Given the description of an element on the screen output the (x, y) to click on. 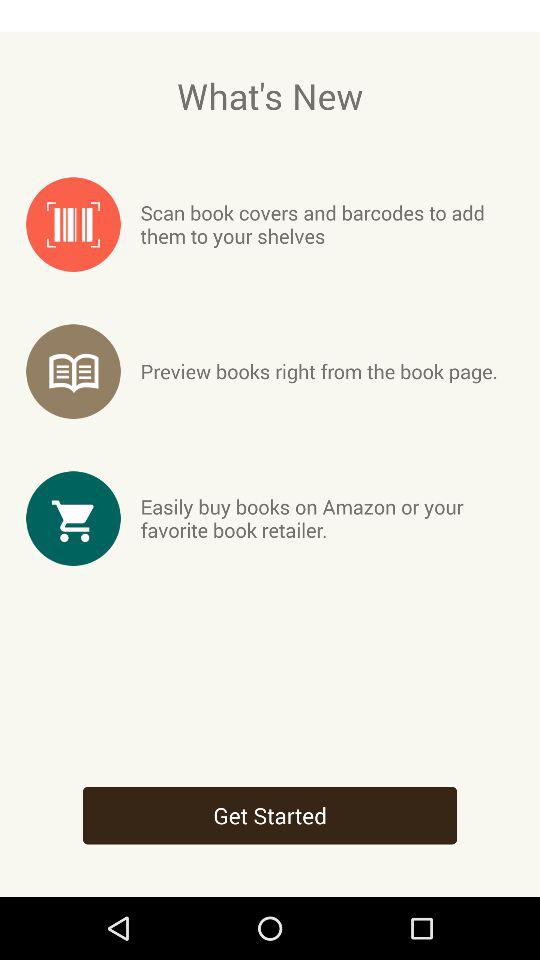
choose scan book covers icon (326, 224)
